Given the description of an element on the screen output the (x, y) to click on. 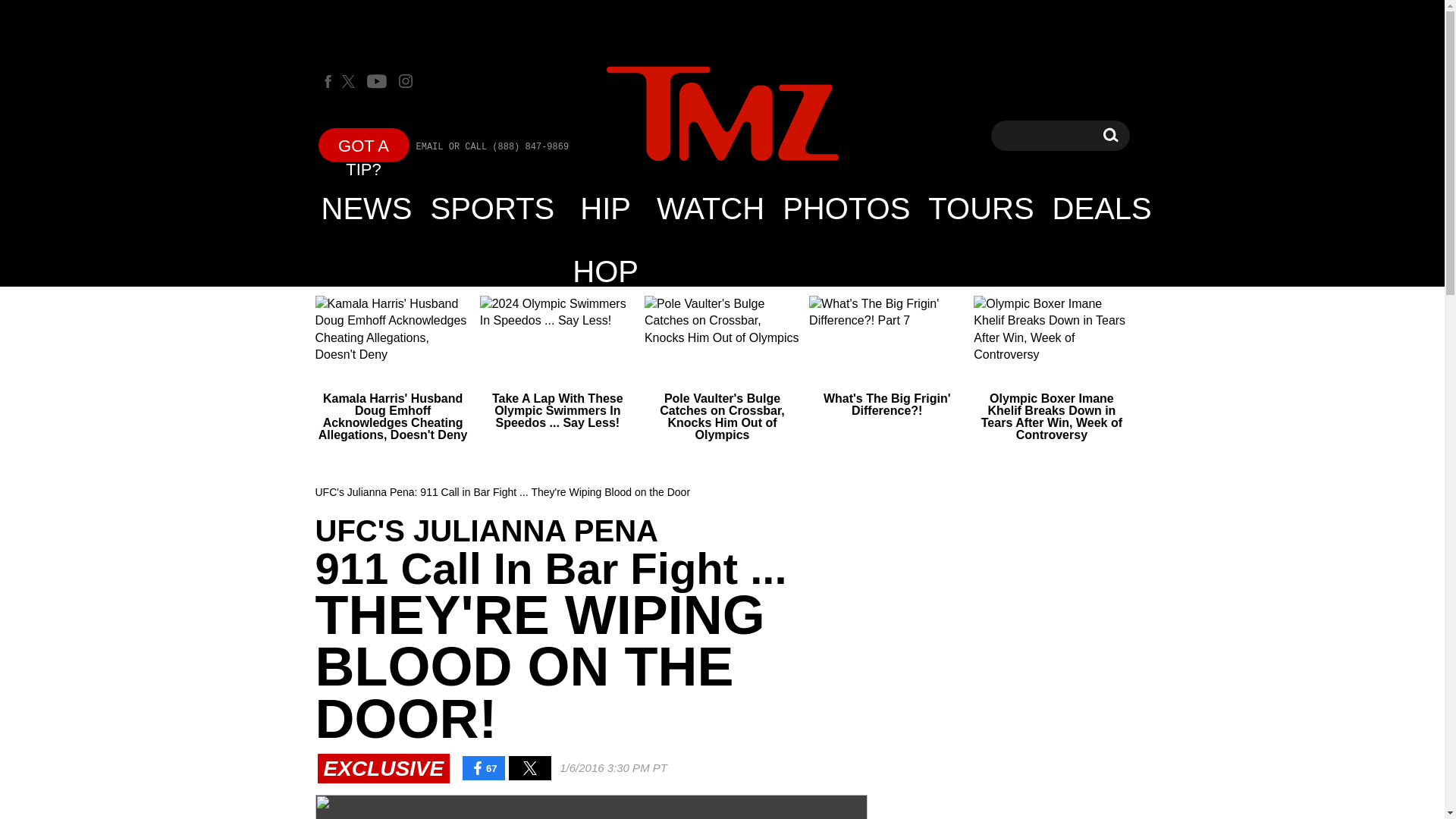
NEWS (367, 207)
GOT A TIP? (363, 144)
TMZ (722, 115)
Search (1110, 134)
HIP HOP (605, 207)
TOURS (980, 207)
WATCH (1110, 135)
SPORTS (710, 207)
DEALS (493, 207)
PHOTOS (1101, 207)
TMZ (845, 207)
